Given the description of an element on the screen output the (x, y) to click on. 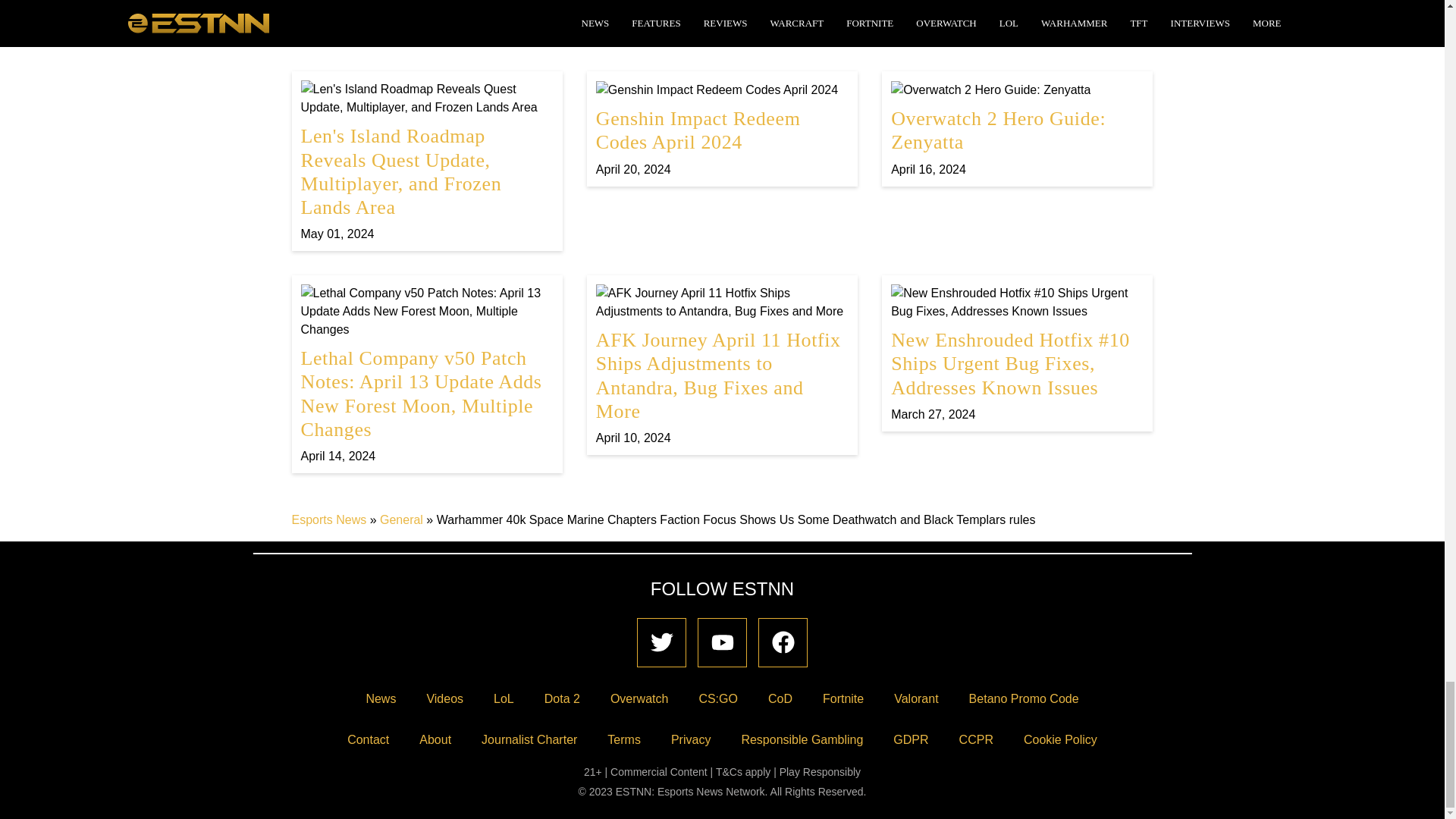
News (380, 698)
Overwatch 2 Hero Guide: Zenyatta (1016, 128)
LoL (504, 698)
Genshin Impact Redeem Codes April 2024 (721, 128)
